Given the description of an element on the screen output the (x, y) to click on. 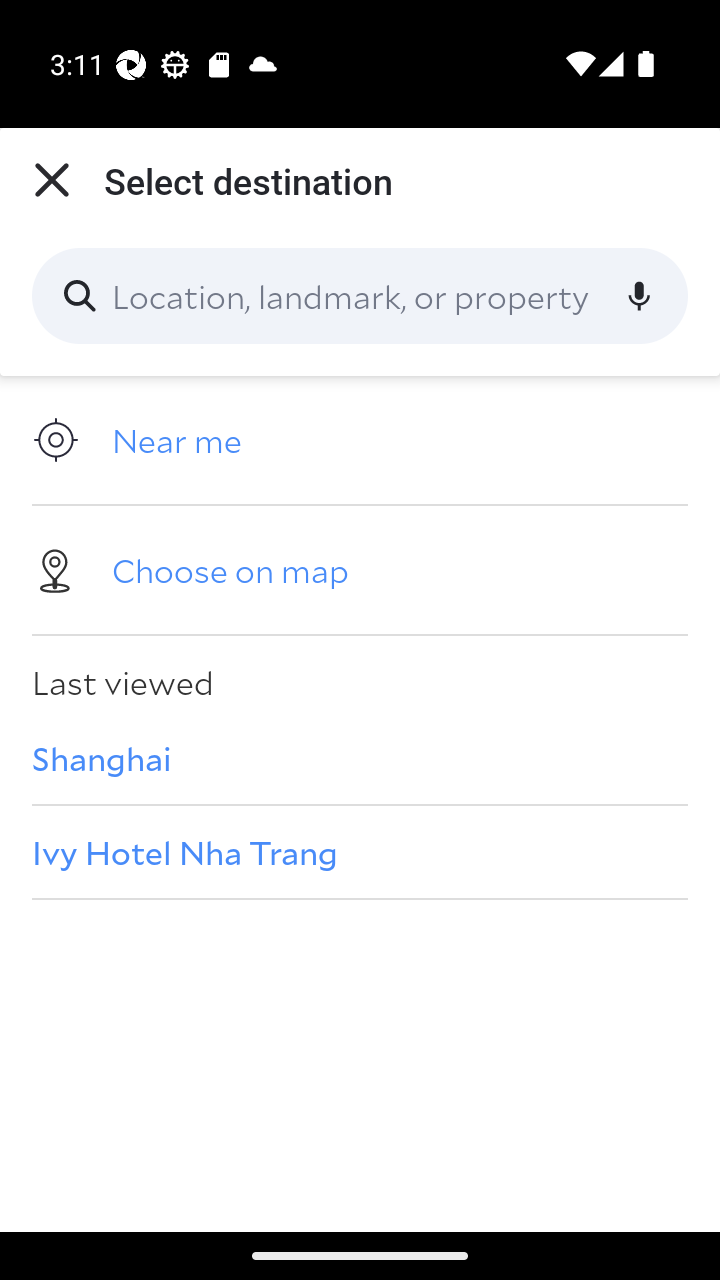
Location, landmark, or property (359, 296)
Near me (360, 440)
Choose on map (360, 569)
Shanghai (360, 757)
Ivy Hotel Nha Trang (360, 852)
